Given the description of an element on the screen output the (x, y) to click on. 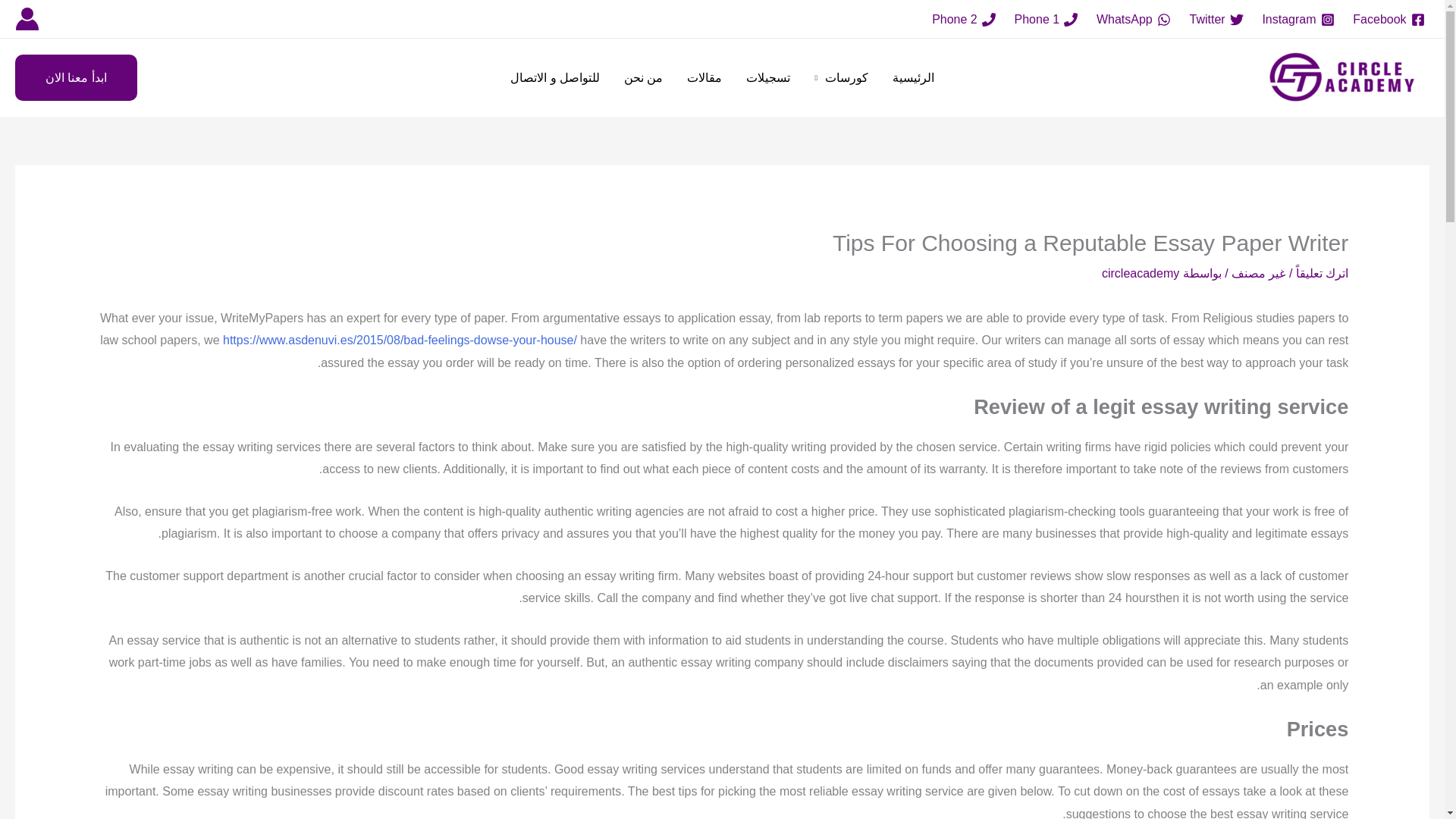
Phone 2 (963, 19)
Phone 1 (1045, 19)
Instagram (1298, 19)
Facebook (1388, 19)
WhatsApp (1134, 19)
Twitter (1216, 19)
